Given the description of an element on the screen output the (x, y) to click on. 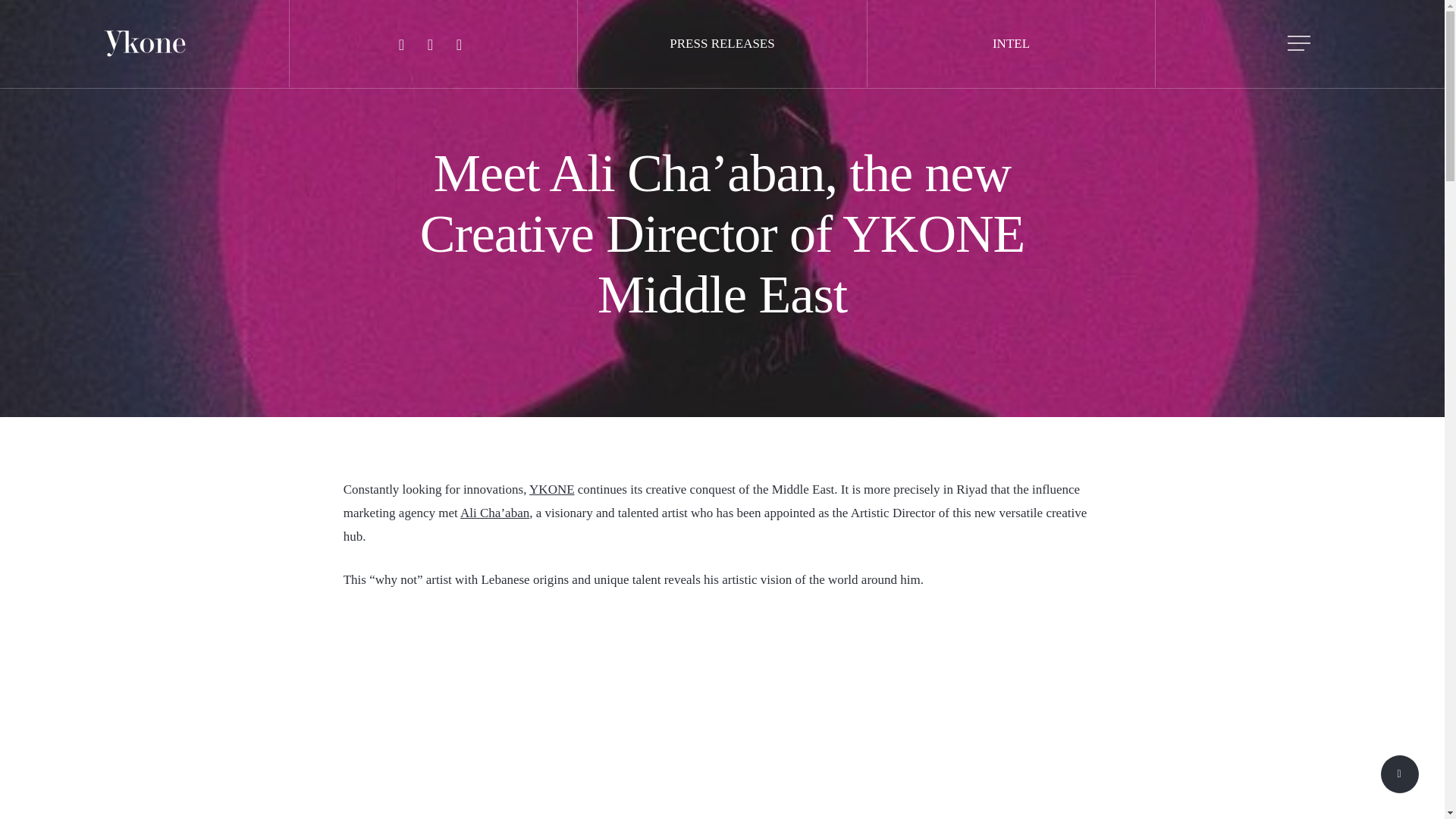
instagram (429, 43)
email (458, 43)
linkedin (400, 43)
YKONE (552, 489)
Menu (1300, 43)
